Given the description of an element on the screen output the (x, y) to click on. 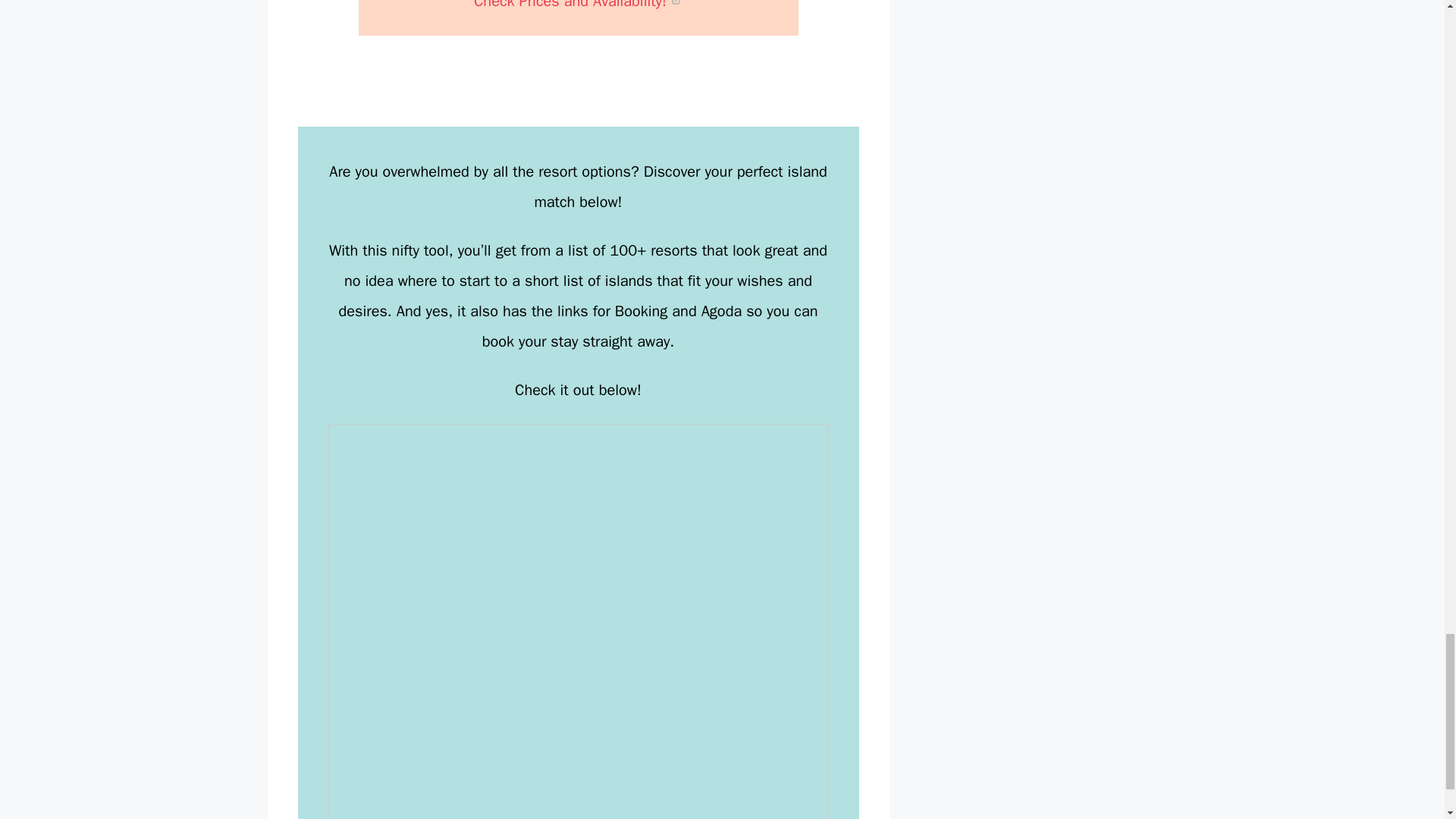
Link goes to external site. (675, 5)
Check Prices and Availability! (578, 5)
Siyam world maldives water villas slide maldives agoda (578, 5)
